Given the description of an element on the screen output the (x, y) to click on. 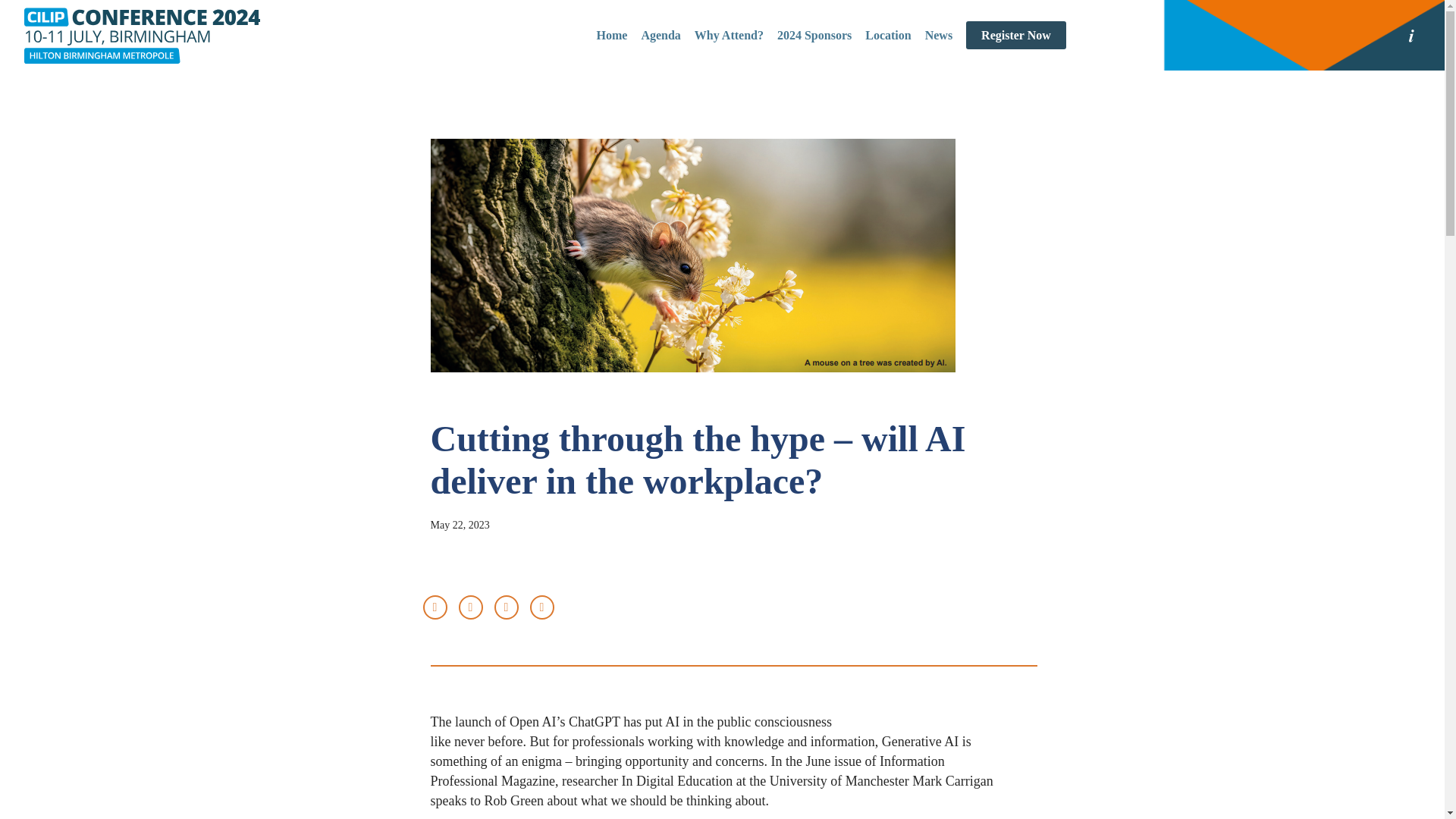
Home (611, 34)
2024 Sponsors (814, 34)
Event information (1411, 34)
News (938, 34)
Why Attend? (728, 34)
Register Now (1015, 35)
Agenda (659, 34)
Location (887, 34)
